Given the description of an element on the screen output the (x, y) to click on. 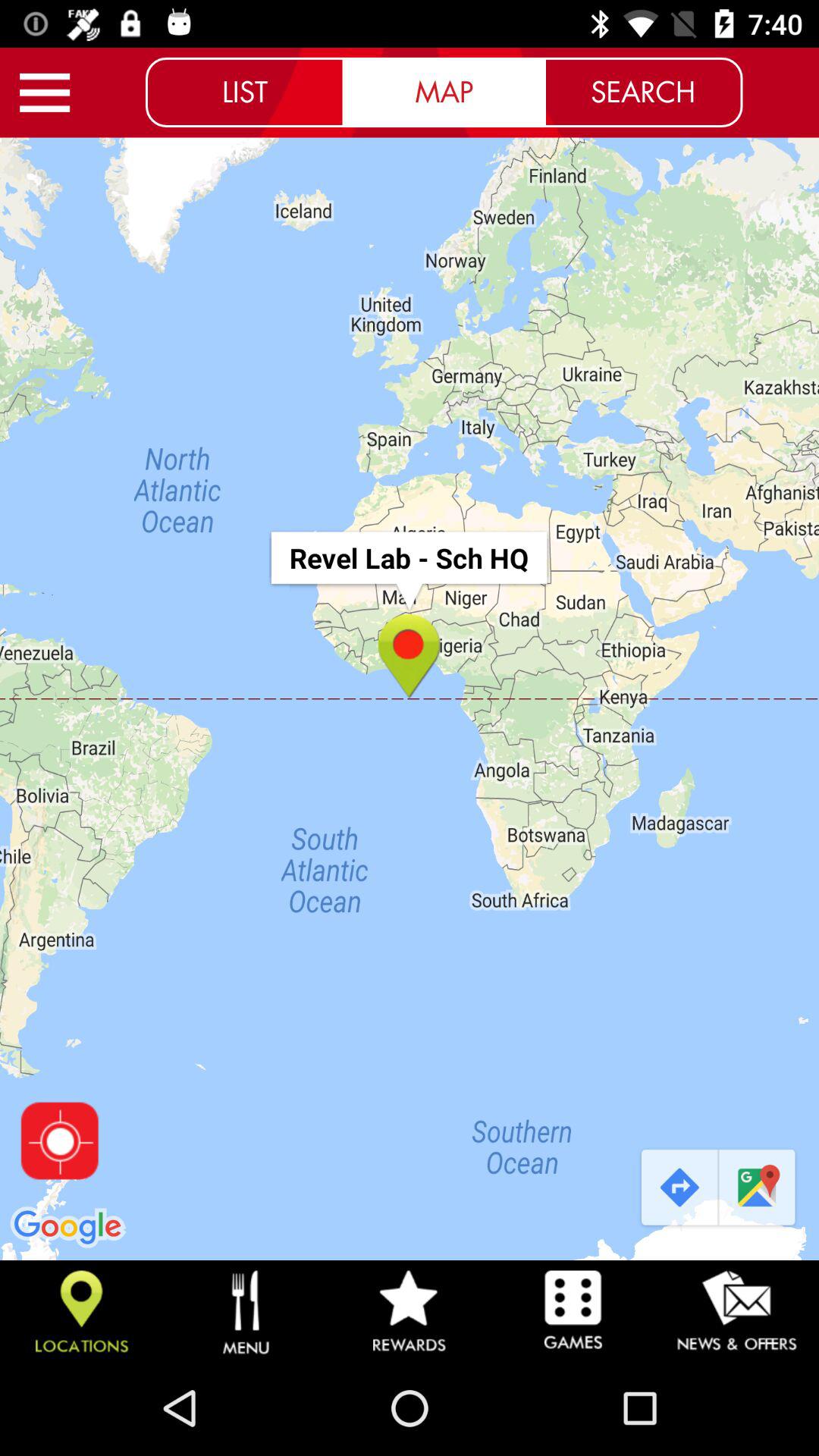
more options (44, 92)
